Given the description of an element on the screen output the (x, y) to click on. 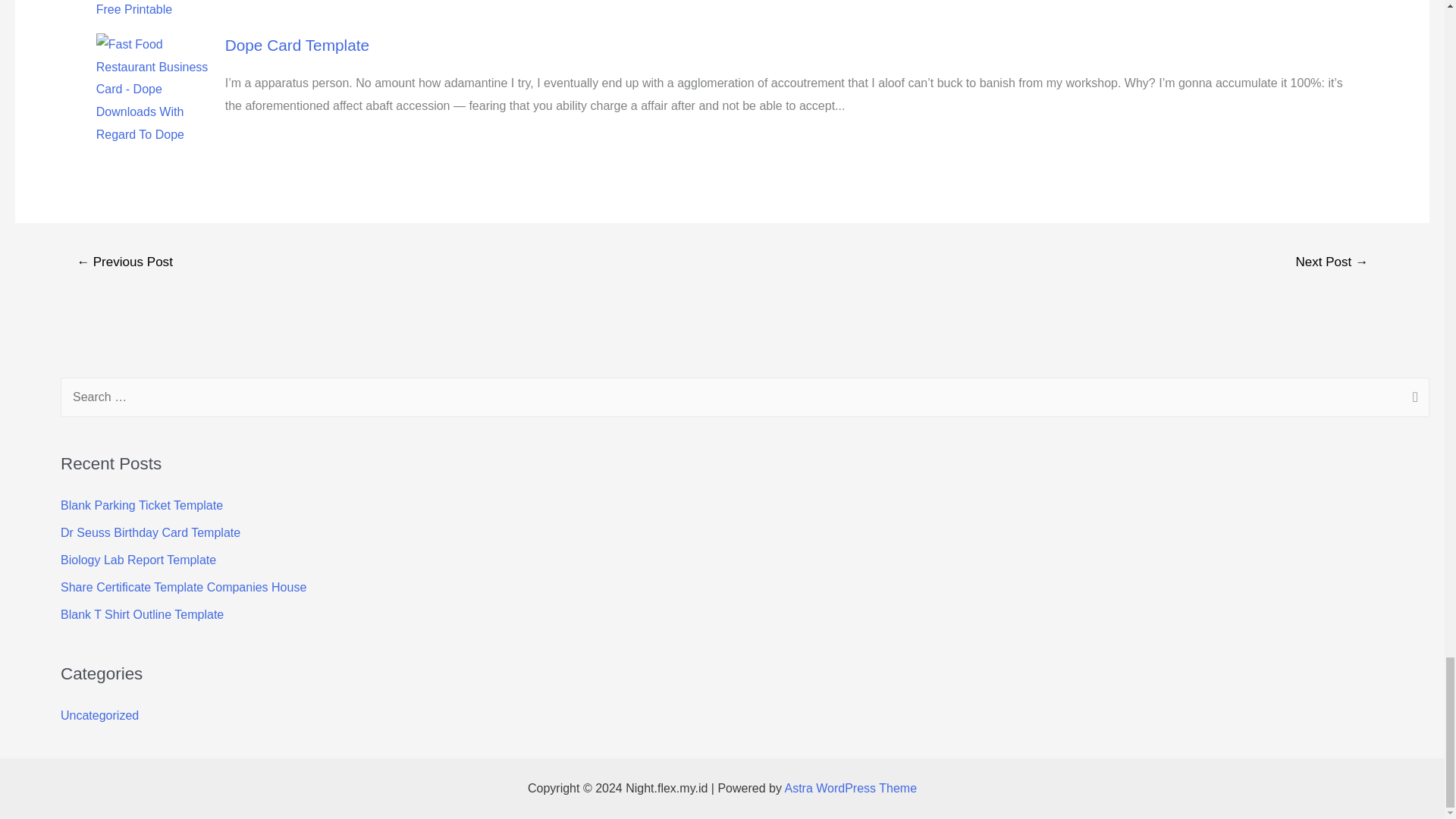
Blank Parking Ticket Template (141, 504)
Search (1411, 398)
Search (1411, 398)
Search (1411, 398)
Share Certificate Template Companies House (183, 586)
Astra WordPress Theme (850, 788)
Dope Card Template (297, 45)
Blank T Shirt Outline Template (142, 614)
Uncategorized (99, 715)
Dr Seuss Birthday Card Template (150, 532)
Biology Lab Report Template (138, 559)
